Given the description of an element on the screen output the (x, y) to click on. 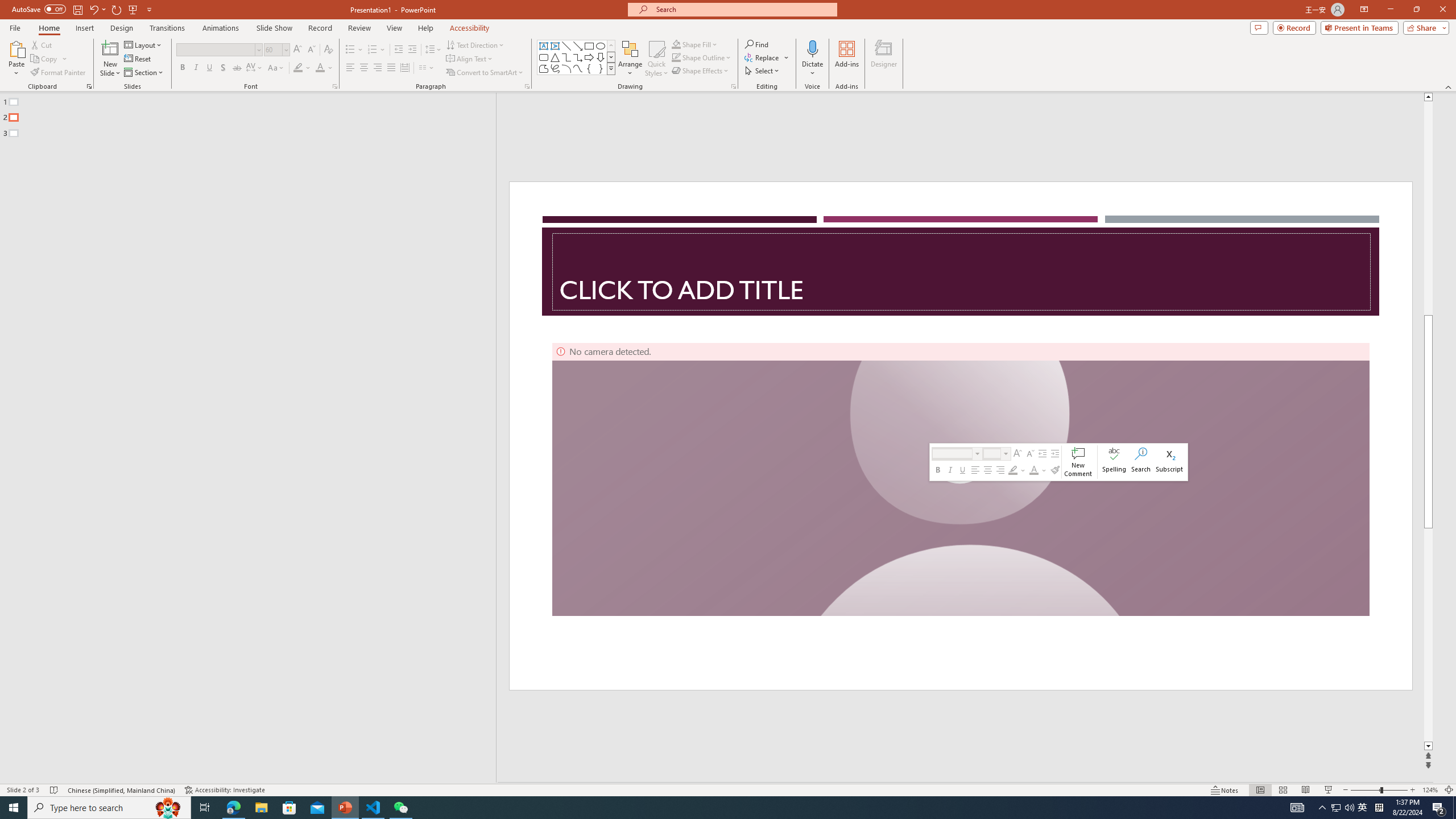
Replace... (762, 56)
Line Arrow (577, 45)
Spelling... (1113, 462)
Outline (252, 114)
Zoom (1379, 790)
Font Color (1033, 470)
Format Painter (58, 72)
Quick Styles (656, 58)
Numbering (376, 49)
Freeform: Scribble (554, 68)
Reset (138, 58)
Record (320, 28)
Zoom Out (1365, 790)
Redo (117, 9)
Designer (883, 58)
